Given the description of an element on the screen output the (x, y) to click on. 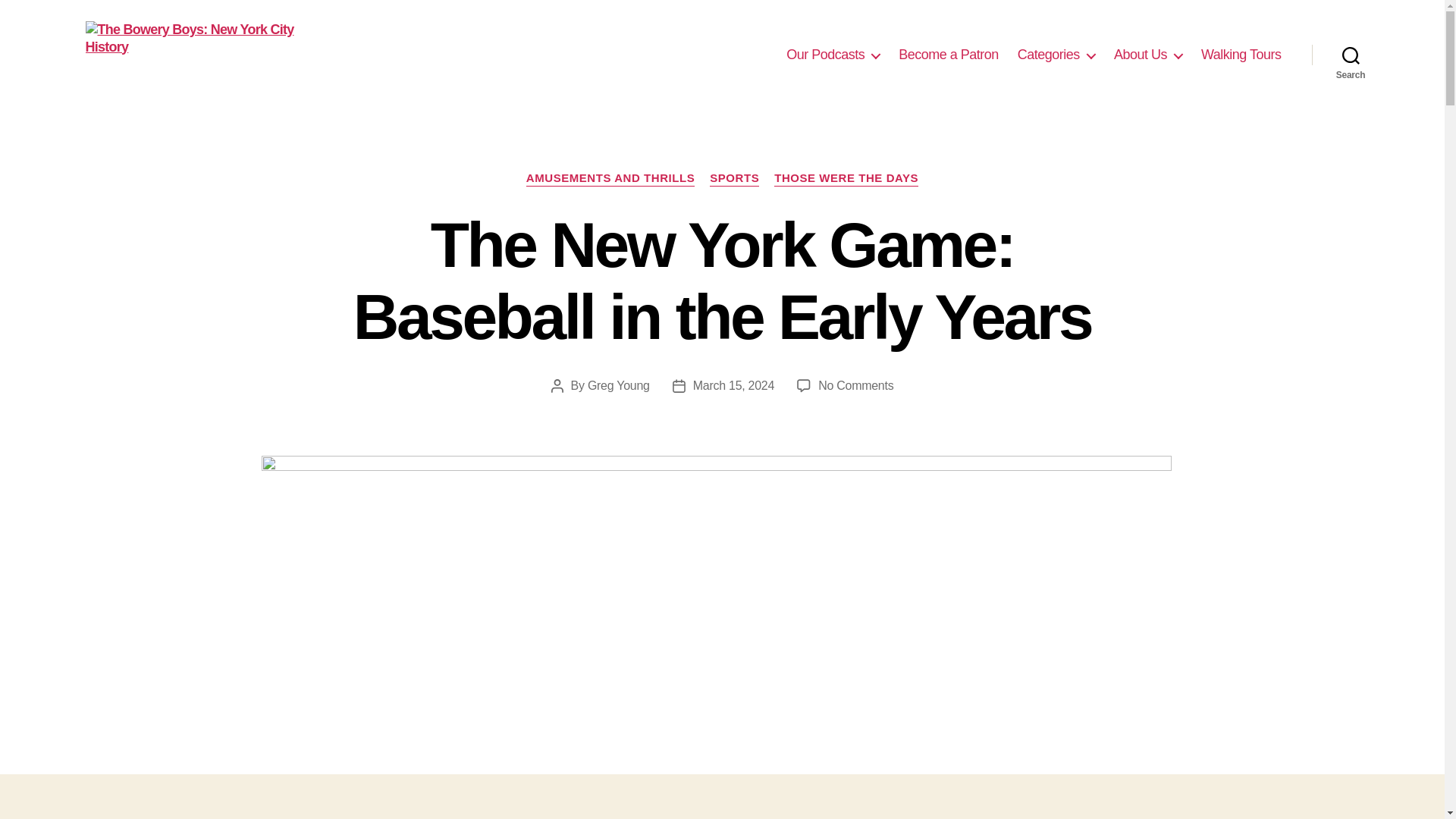
Our Podcasts (832, 54)
Become a Patron (948, 54)
Walking Tours (1241, 54)
About Us (1147, 54)
Search (1350, 55)
Categories (1055, 54)
